Given the description of an element on the screen output the (x, y) to click on. 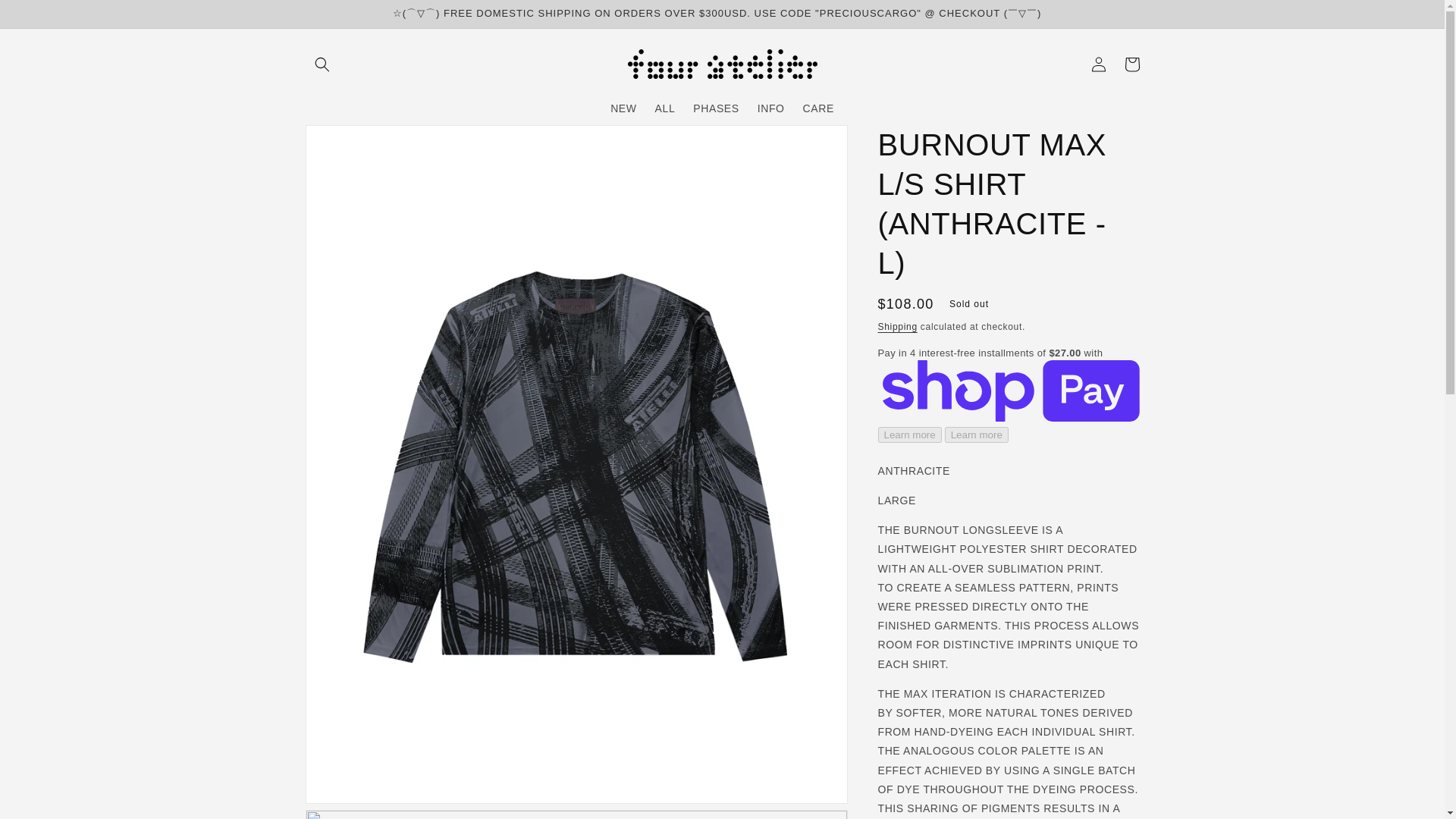
INFO (770, 108)
Log in (1098, 64)
Shipping (897, 326)
ALL (665, 108)
CARE (818, 108)
PHASES (716, 108)
NEW (623, 108)
Skip to product information (351, 142)
Skip to content (46, 18)
Cart (1131, 64)
